Given the description of an element on the screen output the (x, y) to click on. 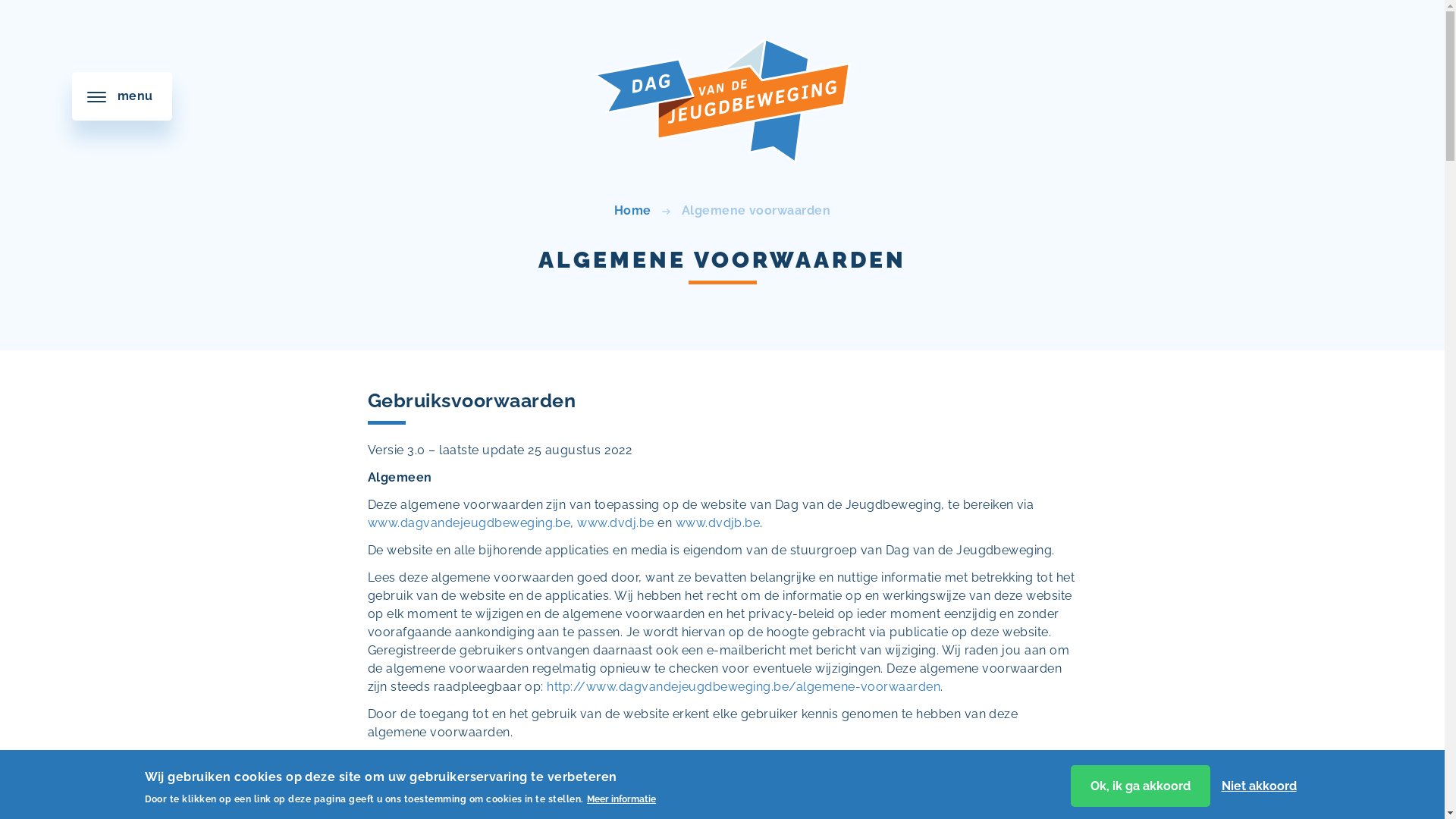
www. Element type: text (691, 522)
Meer informatie Element type: text (620, 798)
toon menu
menu Element type: text (122, 96)
Home Element type: text (632, 210)
www.dagvandejeugdbeweging.be Element type: text (468, 522)
http://www.dagvandejeugdbeweging.be/algemene-voorwaarden Element type: text (743, 686)
Ok, ik ga akkoord Element type: text (1140, 785)
dvdjb.be Element type: text (734, 522)
Niet akkoord Element type: text (1257, 785)
Home Element type: hover (721, 8)
Overslaan en naar de inhoud gaan Element type: text (0, 0)
www.dvdj.be Element type: text (615, 522)
